Given the description of an element on the screen output the (x, y) to click on. 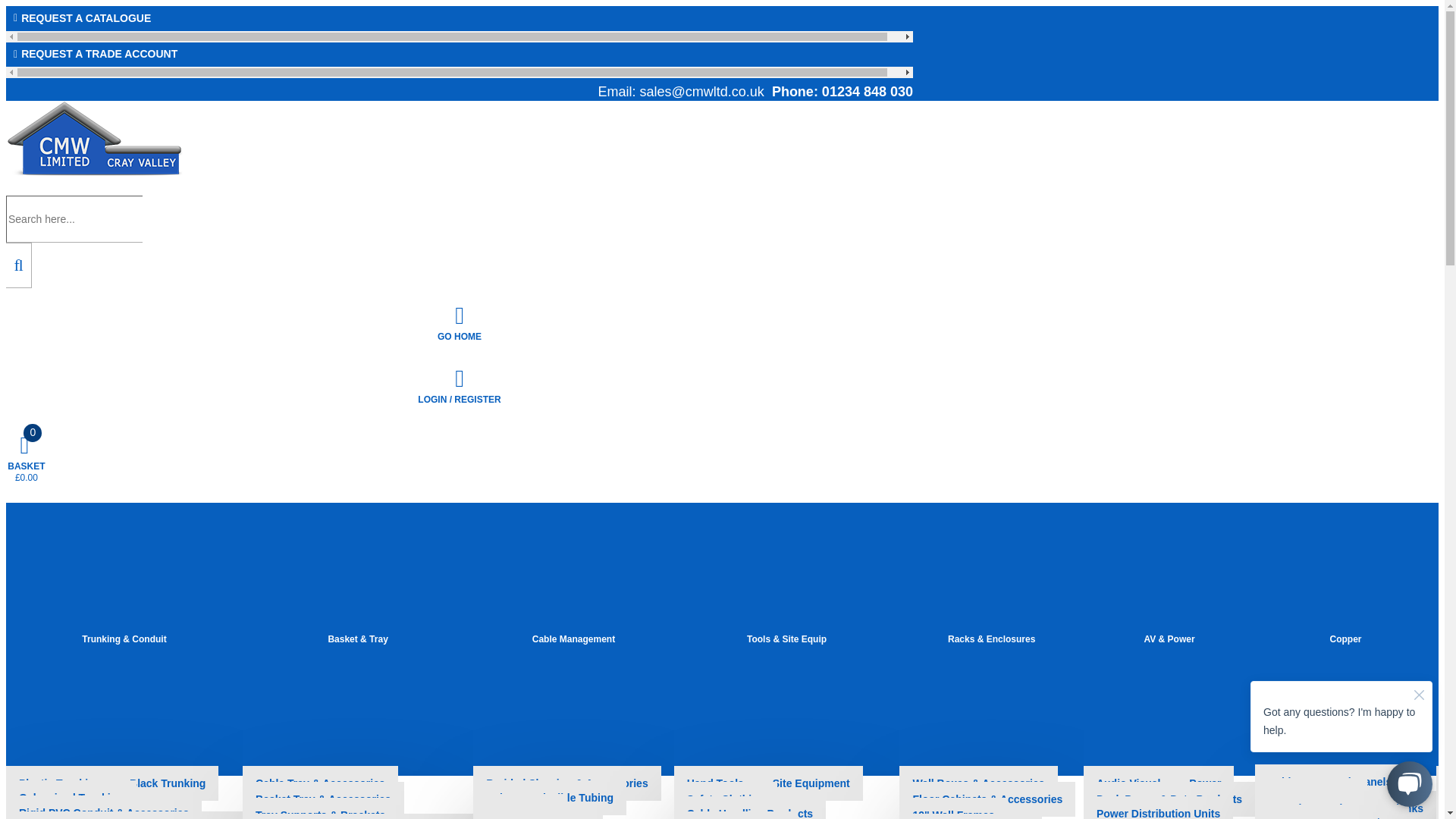
Plastic Trunking (60, 782)
REQUEST A CATALOGUE (458, 18)
GO HOME (458, 323)
REQUEST A TRADE ACCOUNT (458, 54)
Galvanised Trunking (70, 797)
Black Trunking (167, 782)
